Given the description of an element on the screen output the (x, y) to click on. 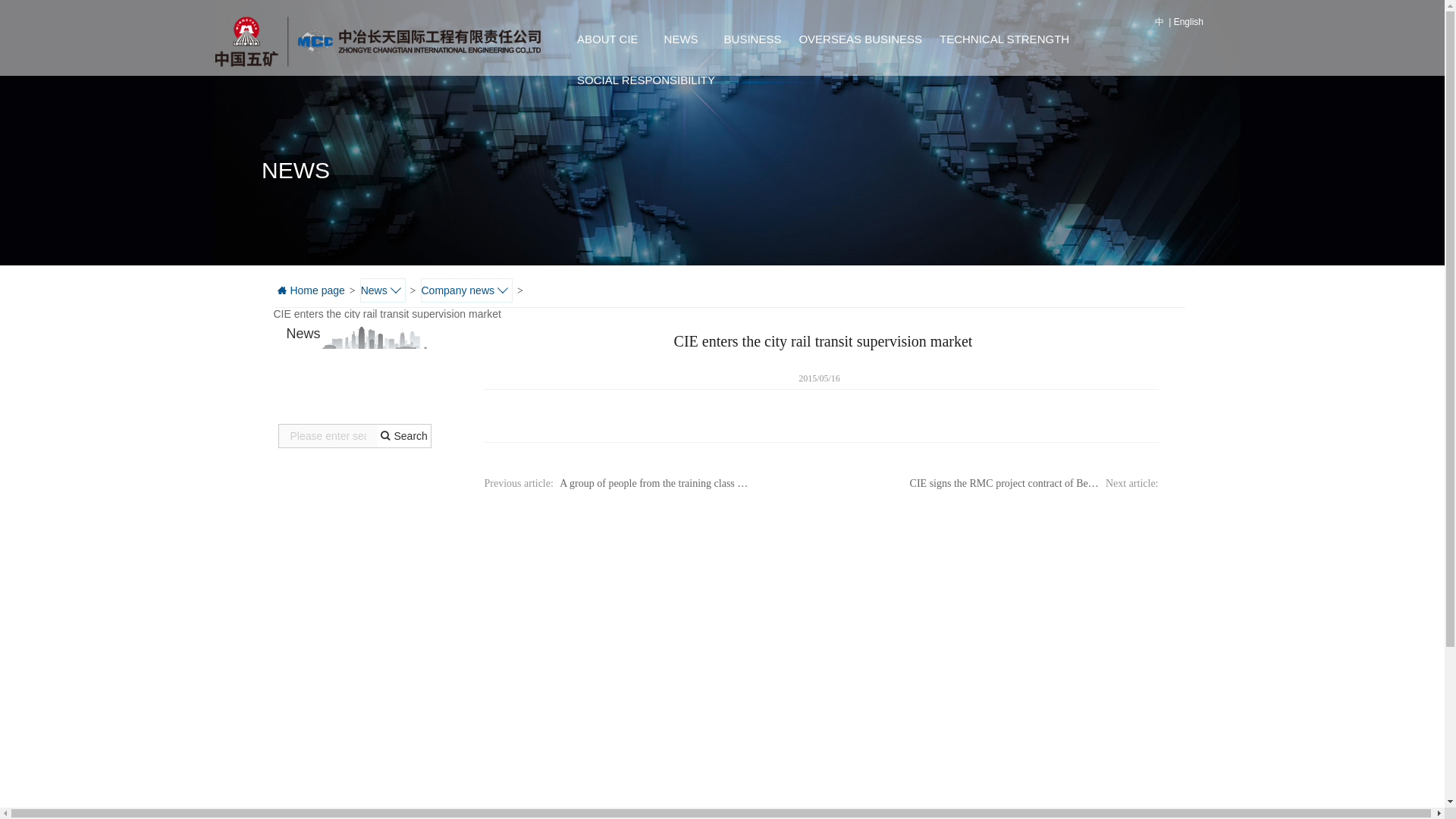
OVERSEAS BUSINESS (858, 38)
News (382, 290)
English (1188, 21)
BUSINESS (751, 38)
TECHNICAL STRENGTH (1002, 38)
SOCIAL RESPONSIBILITY (644, 79)
NEWS (679, 38)
Home page (309, 290)
Company news (466, 290)
ABOUT CIE (607, 38)
cie (373, 42)
